Given the description of an element on the screen output the (x, y) to click on. 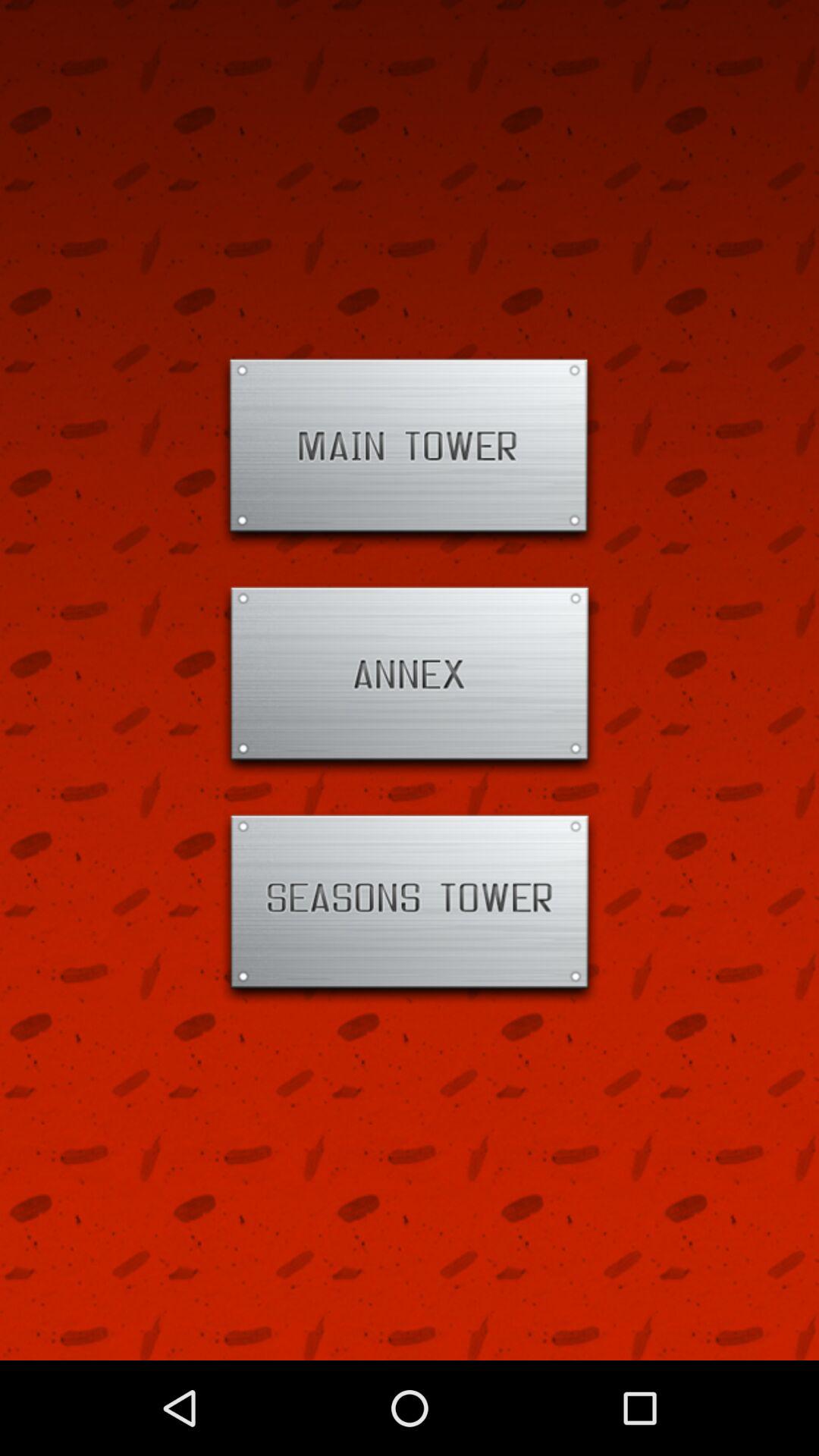
click seasons tower option (409, 908)
